Given the description of an element on the screen output the (x, y) to click on. 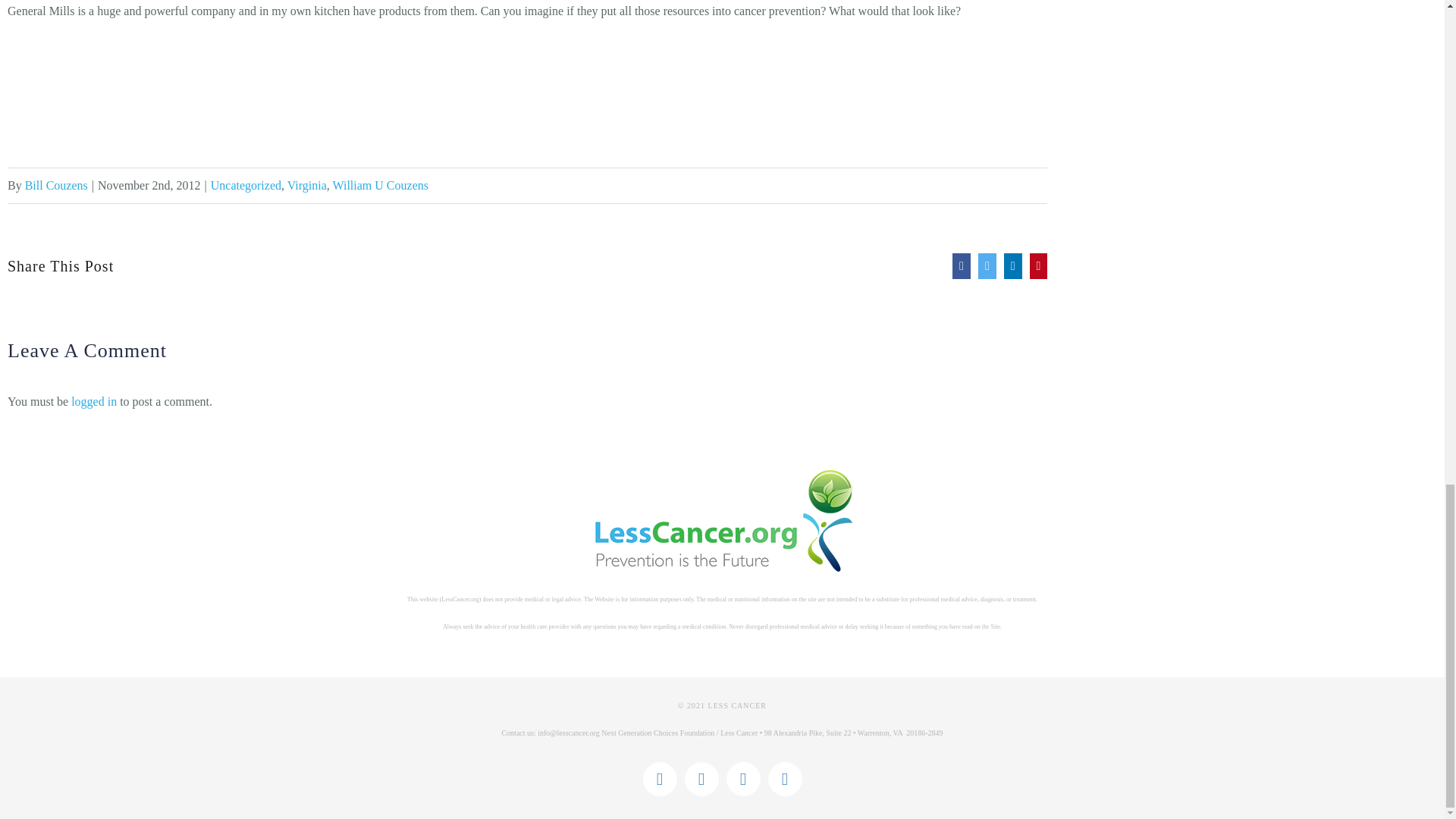
Posts by Bill Couzens (55, 185)
Bill Couzens (55, 185)
Uncategorized (246, 185)
Twitter (700, 779)
Facebook (660, 779)
William U Couzens (380, 185)
Virginia (306, 185)
logged in (93, 400)
YouTube (743, 779)
Instagram (784, 779)
